Given the description of an element on the screen output the (x, y) to click on. 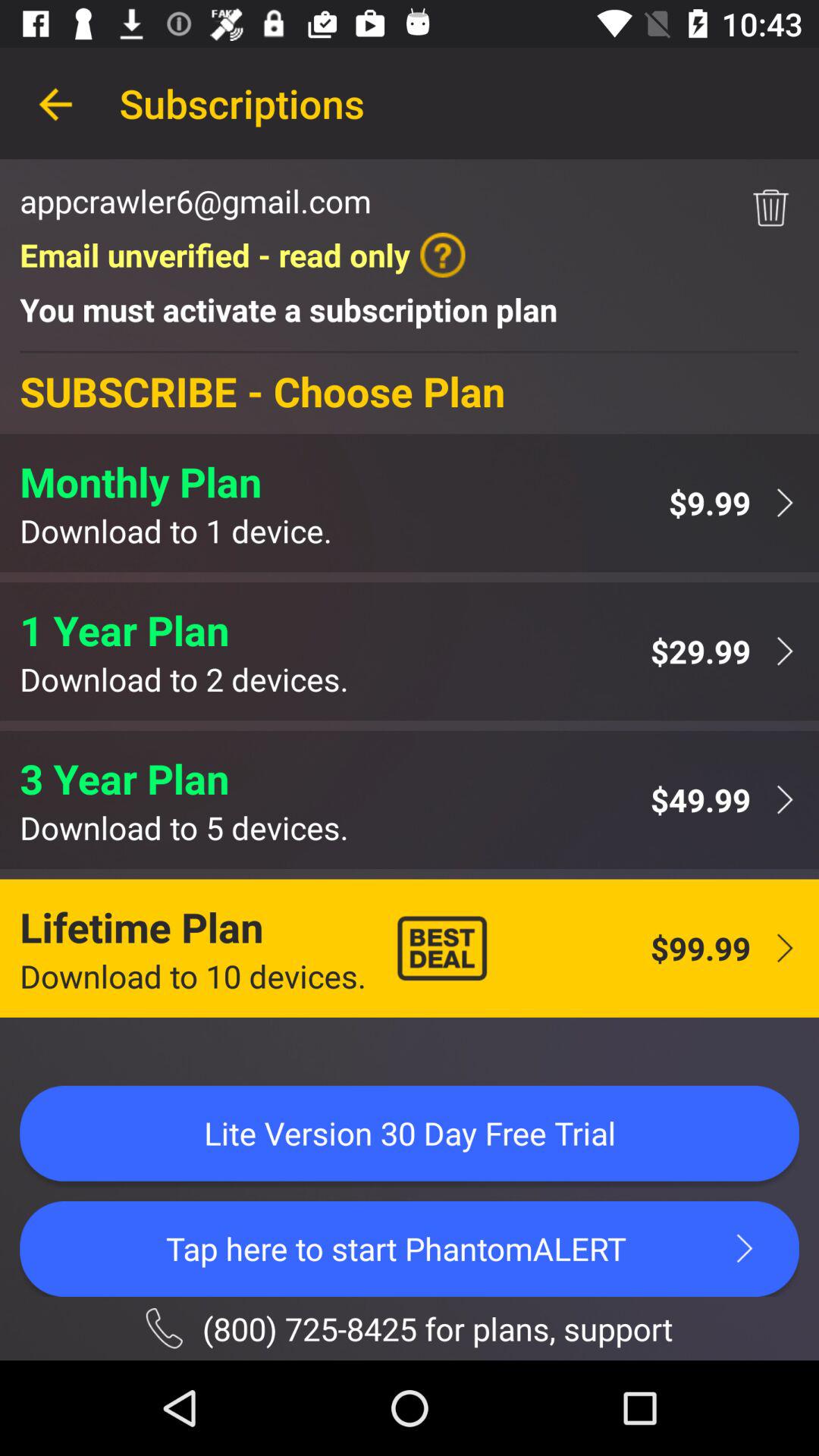
open item above 800 725 8425 icon (409, 1248)
